Given the description of an element on the screen output the (x, y) to click on. 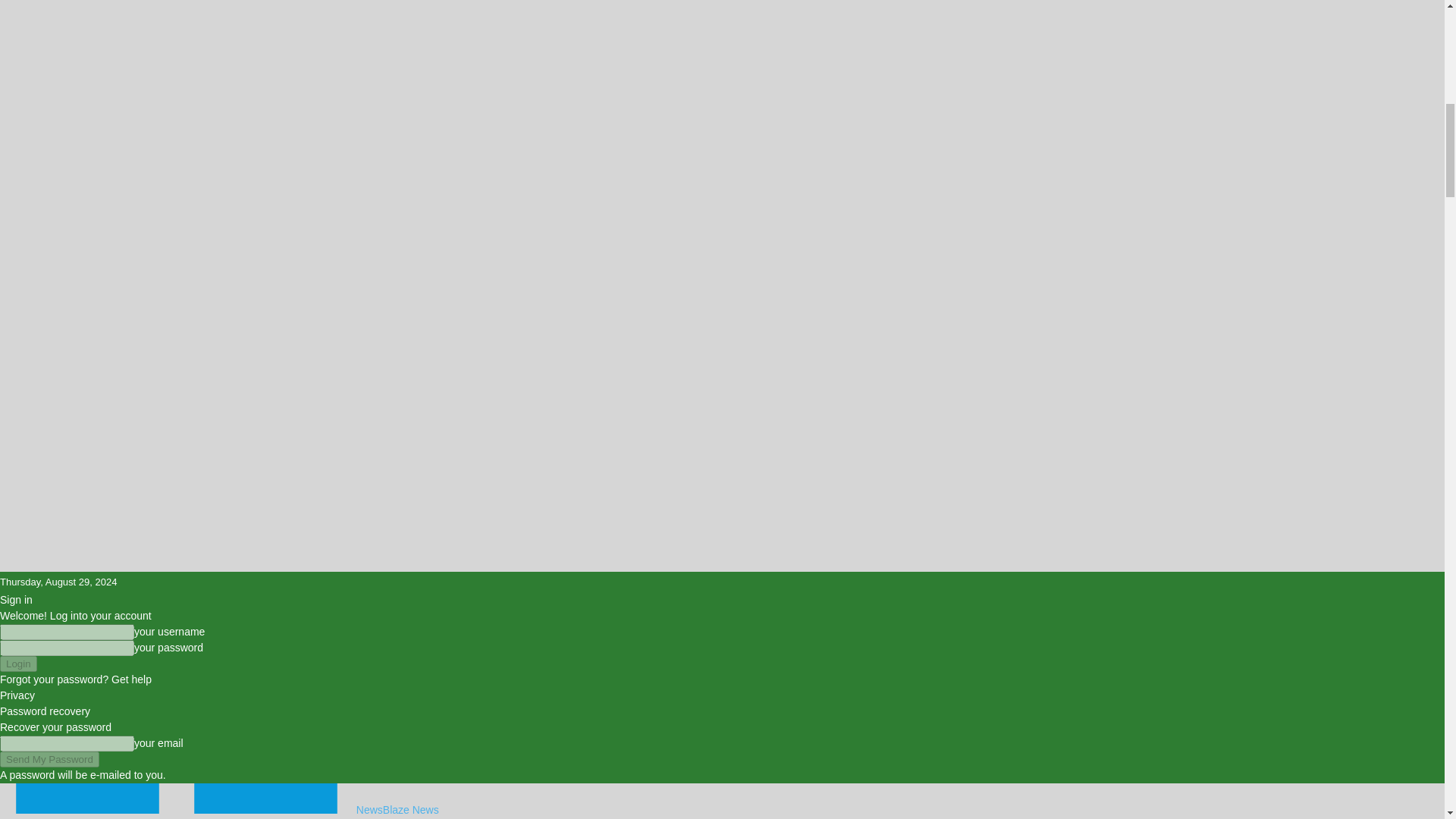
NewsBlaze News logo (265, 798)
Login (18, 663)
Send My Password (49, 759)
NewsBlaze News logo (87, 798)
